Given the description of an element on the screen output the (x, y) to click on. 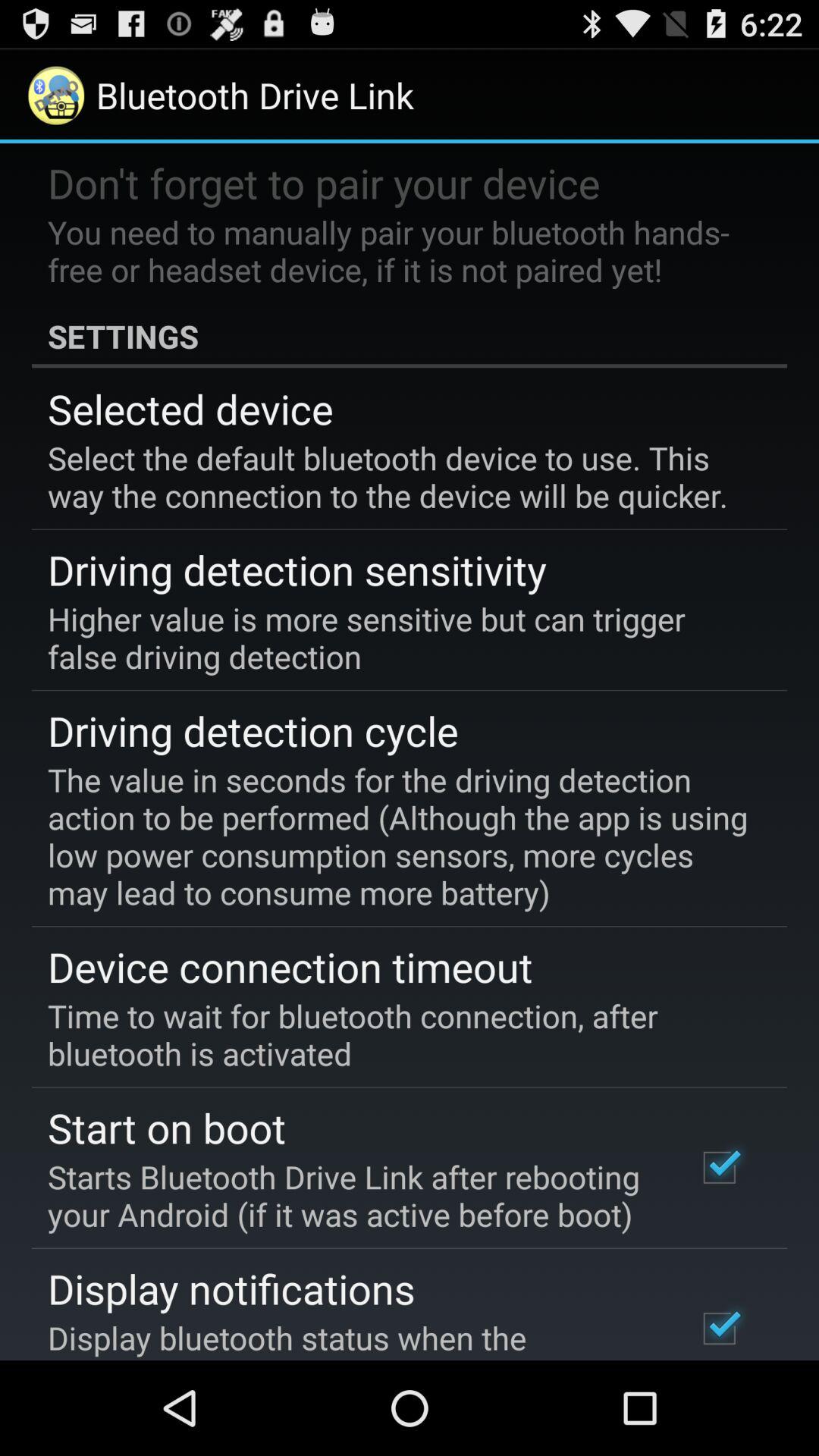
swipe until display bluetooth status app (351, 1338)
